Given the description of an element on the screen output the (x, y) to click on. 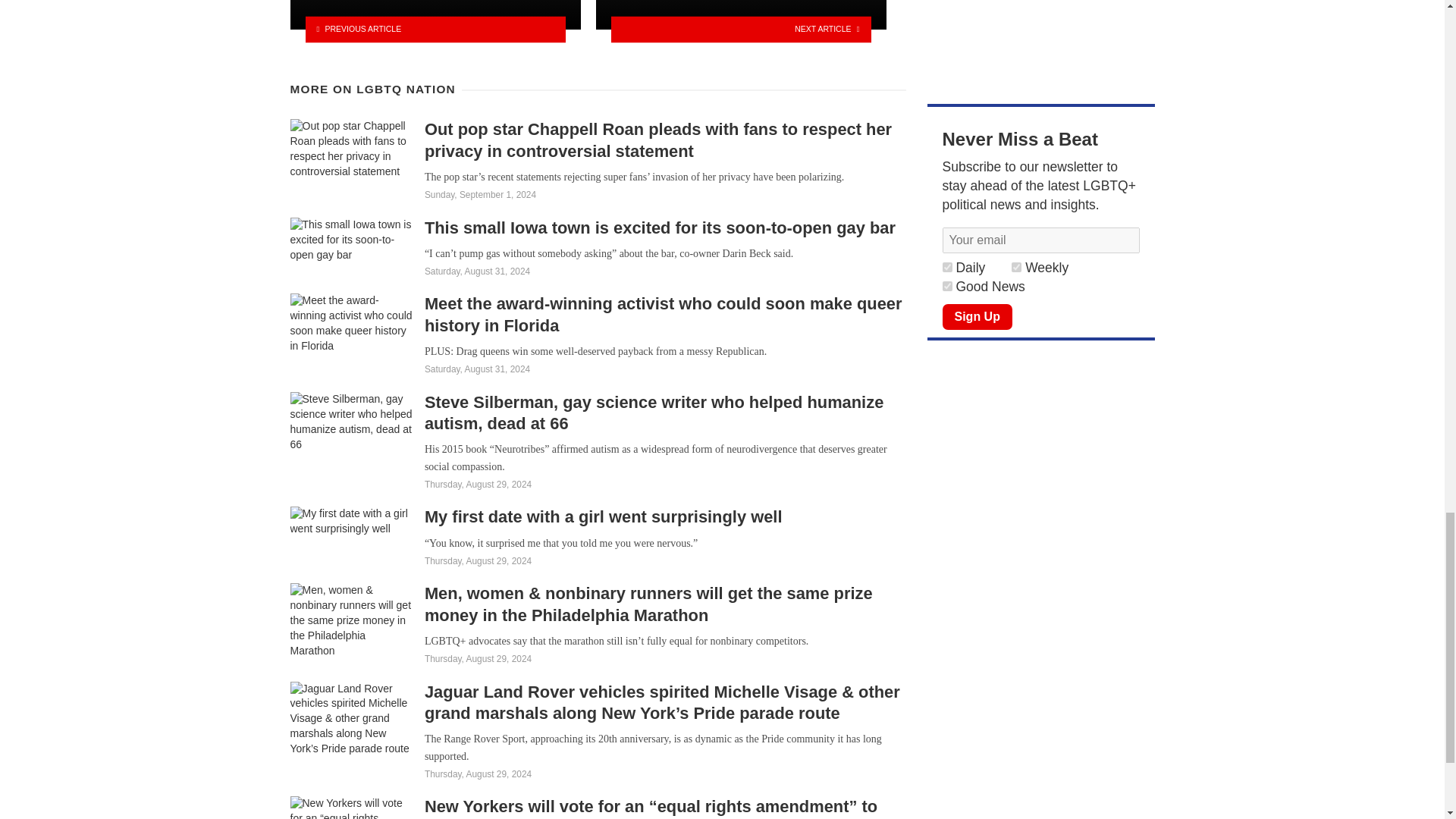
1920885 (947, 266)
1920883 (947, 286)
Sign Up (976, 316)
1920884 (1016, 266)
